Given the description of an element on the screen output the (x, y) to click on. 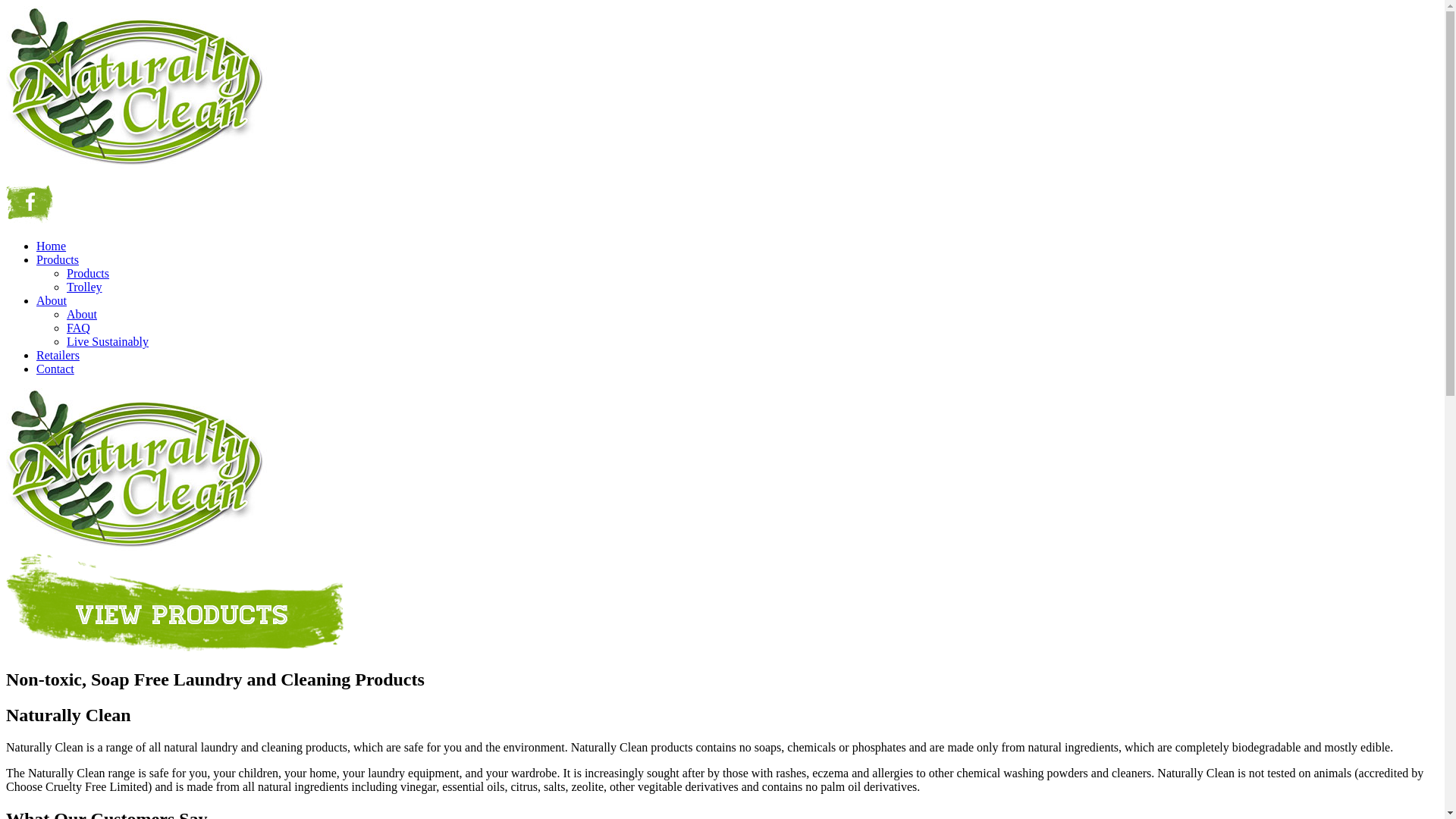
Contact Element type: text (55, 368)
About Element type: text (81, 313)
Trolley Element type: text (84, 286)
About Element type: text (51, 300)
Products Element type: text (57, 259)
Retailers Element type: text (57, 354)
Live Sustainably Element type: text (107, 341)
FAQ Element type: text (78, 327)
Products Element type: text (87, 272)
Home Element type: text (50, 245)
